Given the description of an element on the screen output the (x, y) to click on. 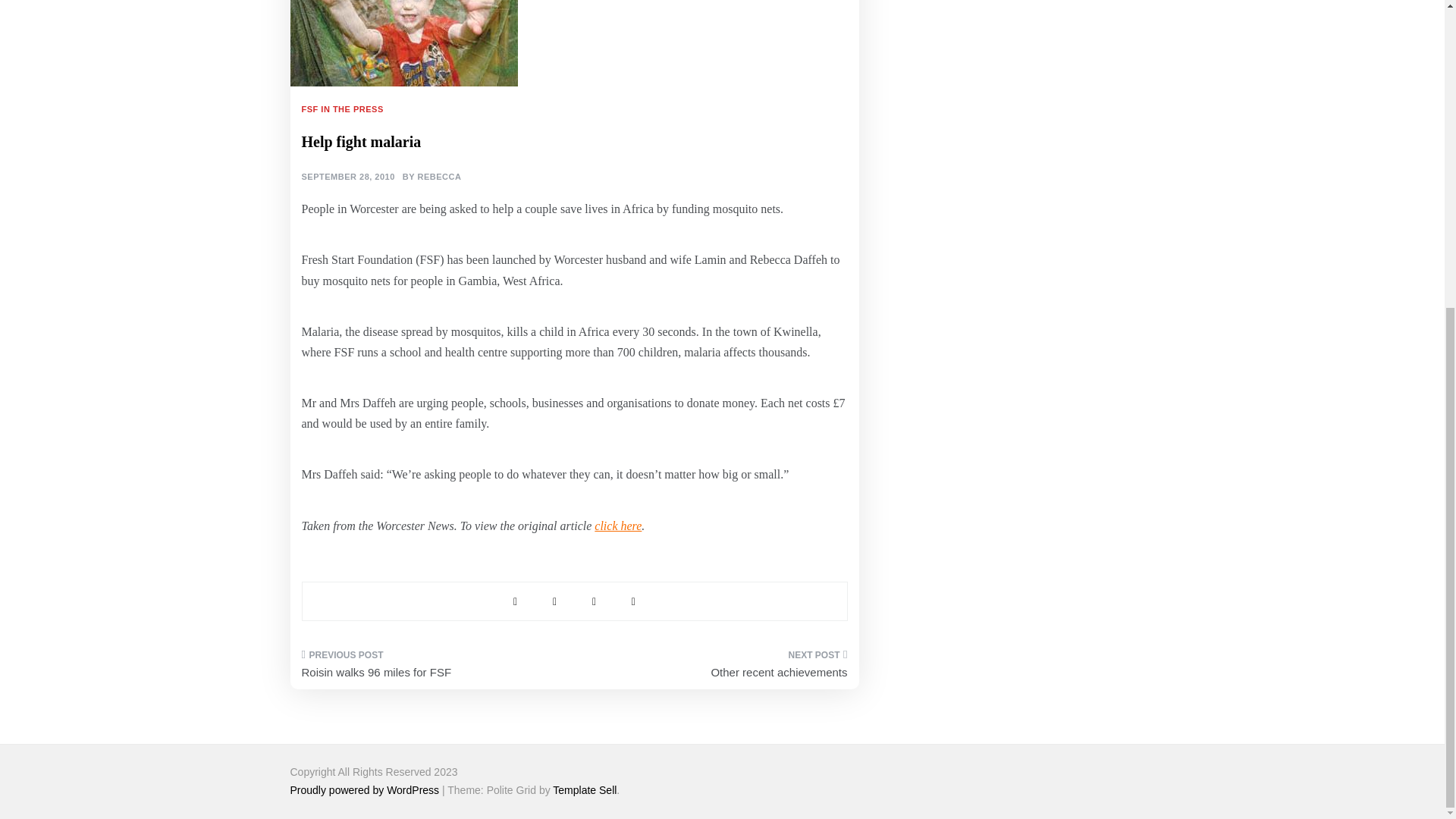
Proudly powered by WordPress (365, 789)
SEPTEMBER 28, 2010 (347, 177)
click here (618, 525)
REBECCA (438, 177)
Template Sell (584, 789)
FSF IN THE PRESS (344, 109)
Roisin walks 96 miles for FSF (432, 668)
Other recent achievements (716, 668)
